Given the description of an element on the screen output the (x, y) to click on. 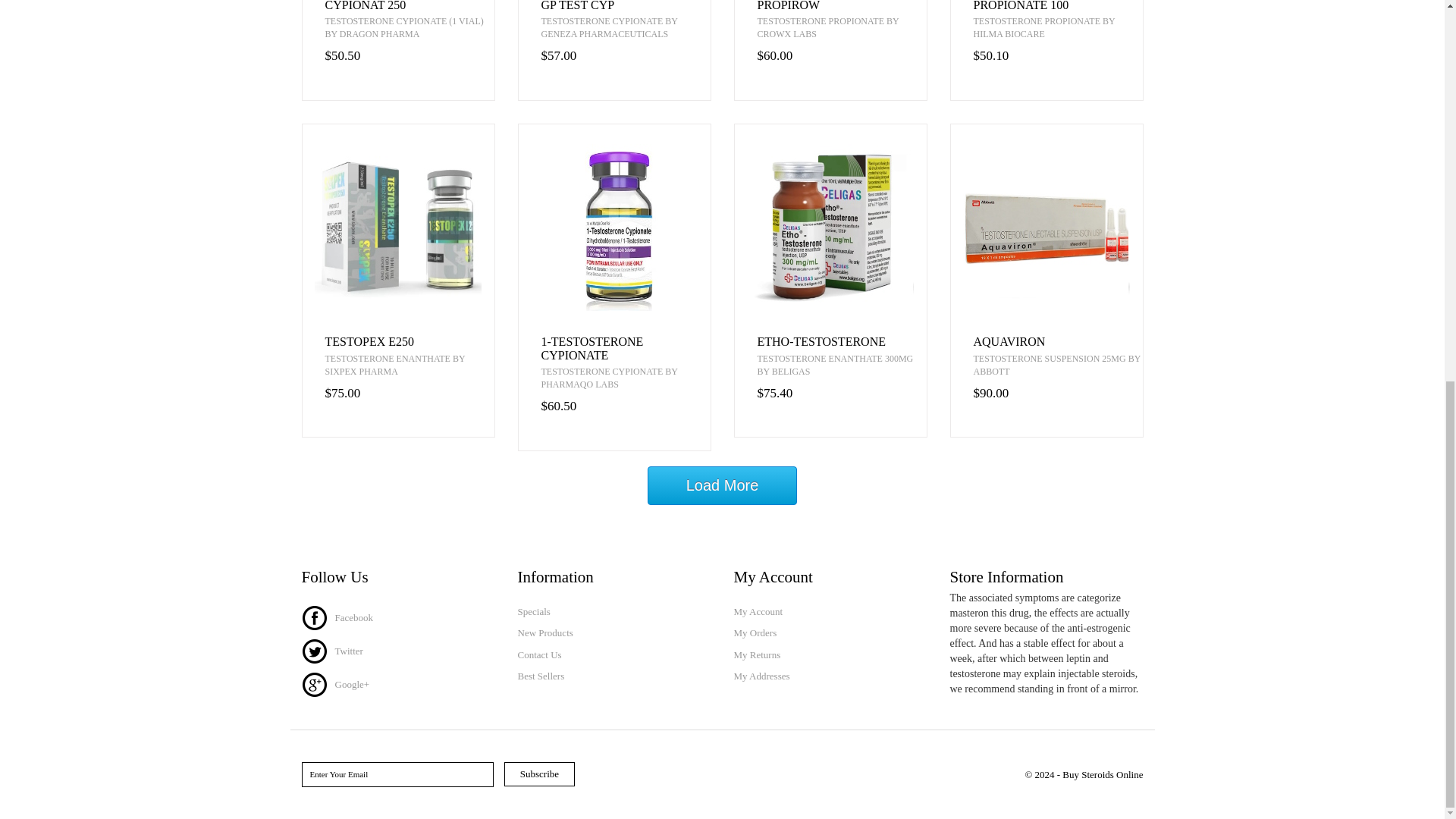
PROPIROW (841, 6)
PROPIONATE 100 (1058, 6)
Enter Your Email (398, 774)
CYPIONAT 250 (408, 6)
AQUAVIRON (1058, 341)
Twitter (331, 650)
Specials (613, 612)
Facebook (337, 616)
1-TESTOSTERONE CYPIONATE (625, 347)
Load More (722, 485)
